Given the description of an element on the screen output the (x, y) to click on. 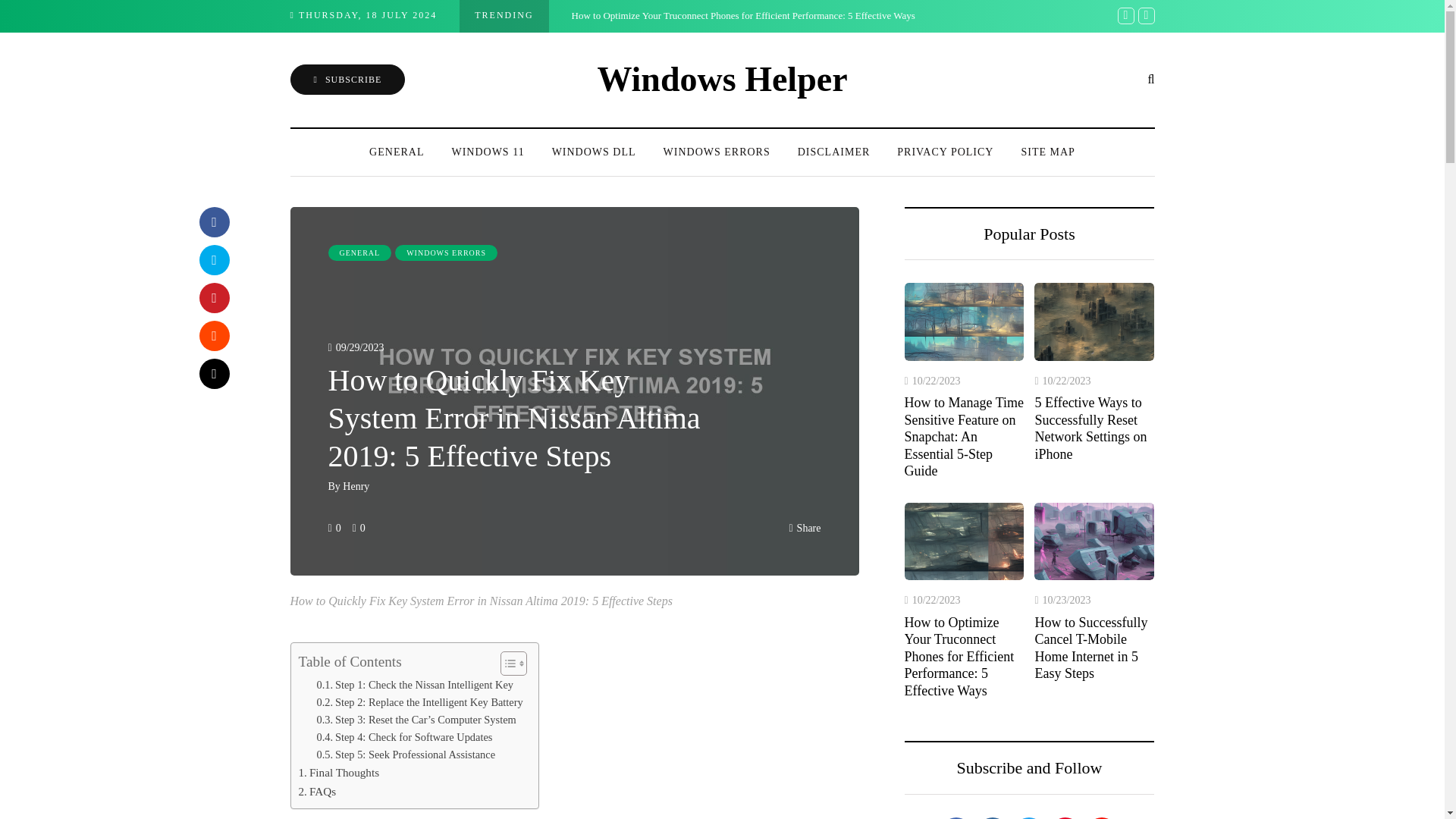
DISCLAIMER (833, 152)
WINDOWS 11 (487, 152)
WINDOWS ERRORS (716, 152)
GENERAL (396, 152)
Step 4: Check for Software Updates (405, 737)
WINDOWS ERRORS (445, 252)
PRIVACY POLICY (945, 152)
Step 5: Seek Professional Assistance (406, 754)
WINDOWS DLL (593, 152)
SITE MAP (1047, 152)
Posts by Henry (355, 486)
Windows Helper (721, 78)
Step 1: Check the Nissan Intelligent Key (415, 684)
Henry (355, 486)
